Given the description of an element on the screen output the (x, y) to click on. 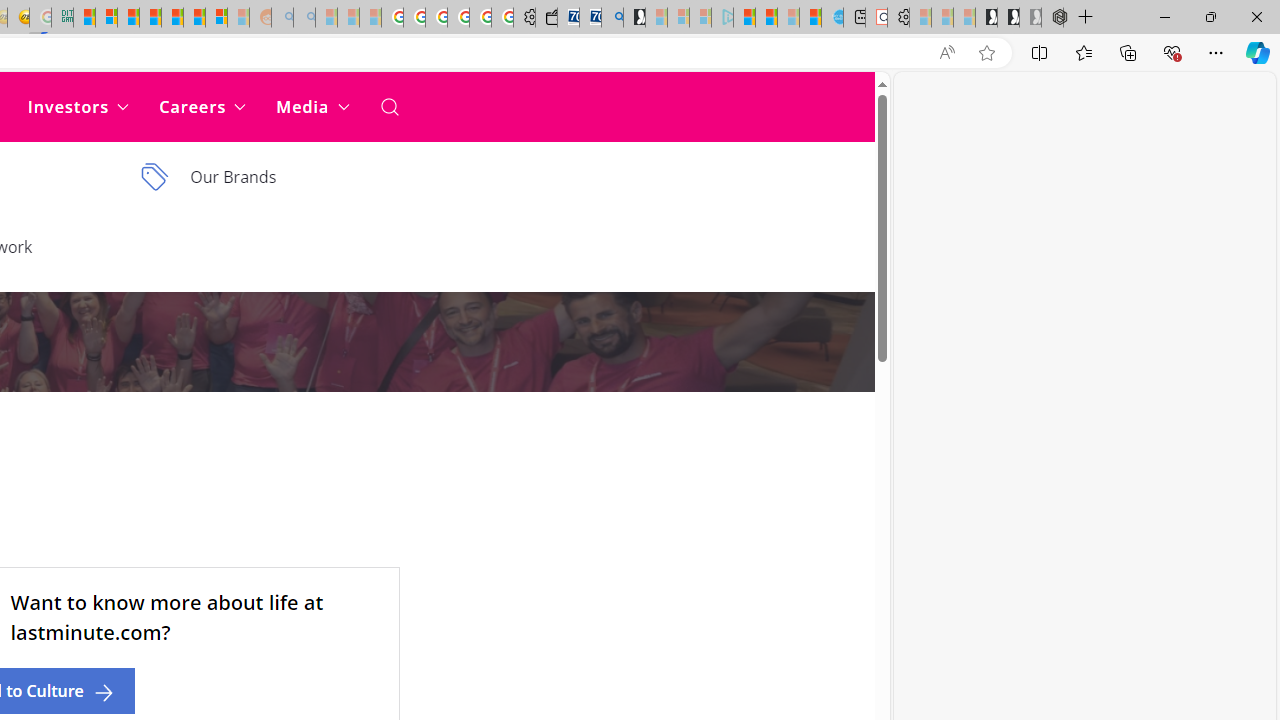
Microsoft Start - Sleeping (788, 17)
Careers (202, 106)
Nordace - Nordace Siena Is Not An Ordinary Backpack (1052, 17)
DITOGAMES AG Imprint (62, 17)
Investors (78, 106)
